Given the description of an element on the screen output the (x, y) to click on. 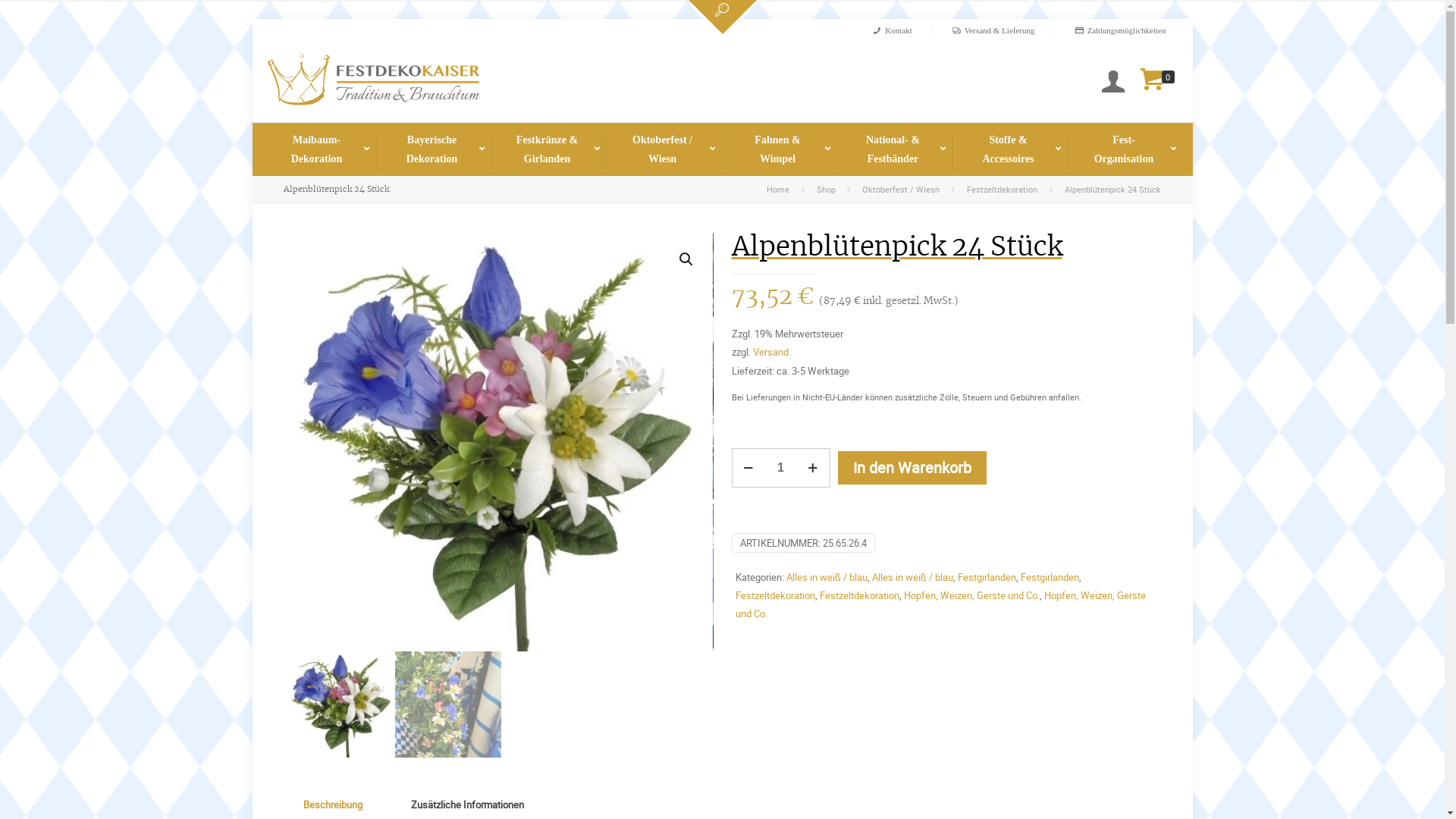
Festgirlanden Element type: text (1049, 576)
Versand Element type: text (769, 351)
Home Element type: text (777, 188)
Stoffe & Accessoires Element type: text (1009, 145)
0 Element type: text (1157, 81)
Fahnen & Wimpel Element type: text (779, 145)
Fest-Organisation Element type: text (1125, 145)
Maibaum-Dekoration Element type: text (318, 145)
Oktoberfest / Wiesn Element type: text (900, 188)
Festzeltdekoration Element type: text (858, 595)
204881-050 (2) Element type: hover (501, 441)
In den Warenkorb Element type: text (911, 467)
Oktoberfest / Wiesn Element type: text (663, 145)
Shop Element type: text (825, 188)
Festzeltdekoration Element type: text (775, 595)
Menge Element type: hover (780, 467)
Versand & Lieferung Element type: text (992, 26)
Kontakt Element type: text (891, 26)
Festgirlanden Element type: text (986, 576)
IMG_20210721_110339-02 Element type: hover (924, 514)
Festdeko Kaiser Element type: hover (372, 112)
Hopfen, Weizen, Gerste und Co. Element type: text (971, 595)
Bayerische Dekoration Element type: text (433, 145)
Hopfen, Weizen, Gerste und Co. Element type: text (940, 604)
Festzeltdekoration Element type: text (1001, 188)
